Given the description of an element on the screen output the (x, y) to click on. 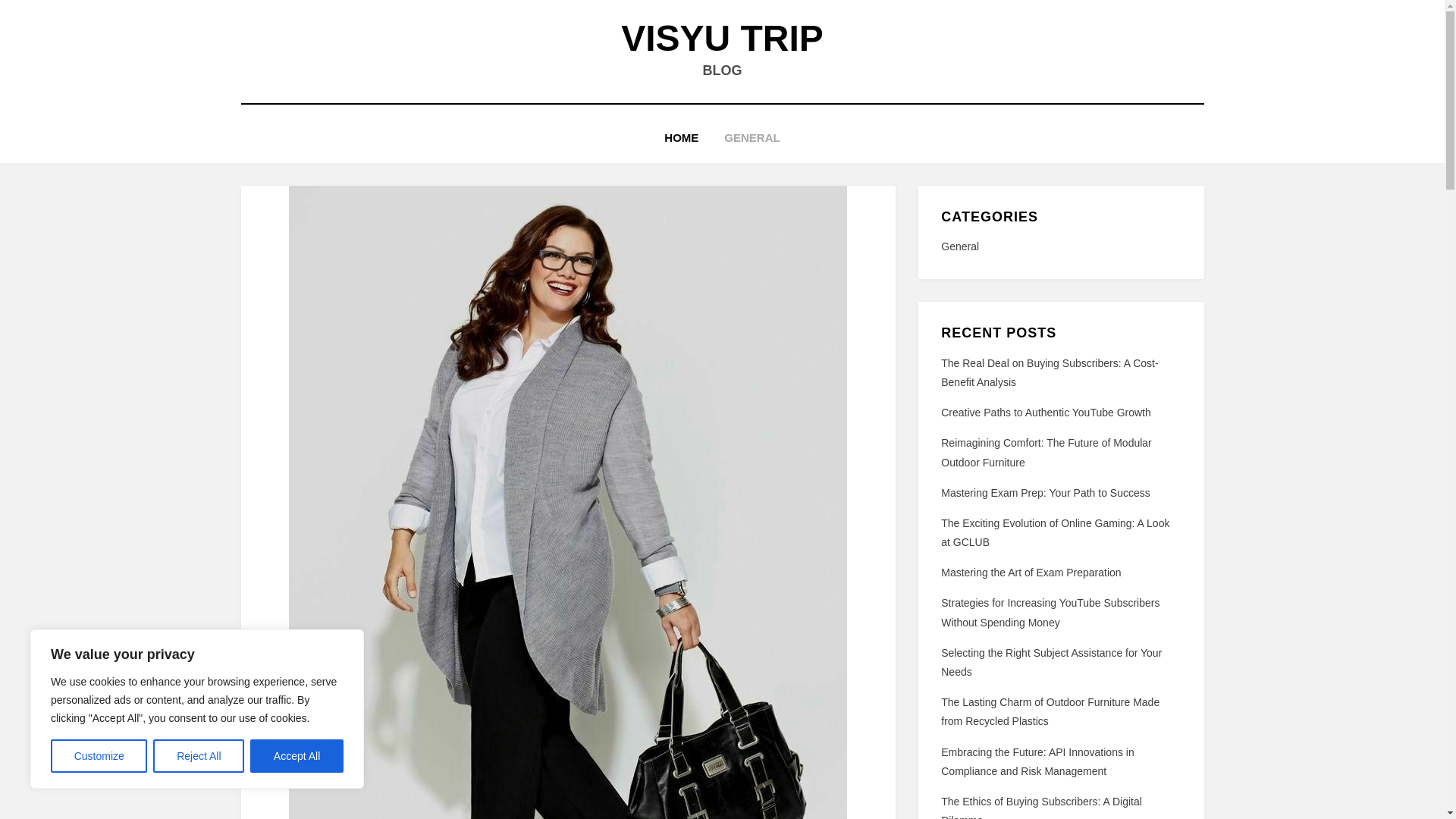
The Exciting Evolution of Online Gaming: A Look at GCLUB (1054, 531)
Customize (98, 756)
HOME (680, 137)
Mastering Exam Prep: Your Path to Success (1045, 492)
Reimagining Comfort: The Future of Modular Outdoor Furniture (1045, 451)
VISYU TRIP (722, 38)
Selecting the Right Subject Assistance for Your Needs (1050, 662)
General (1060, 246)
